Given the description of an element on the screen output the (x, y) to click on. 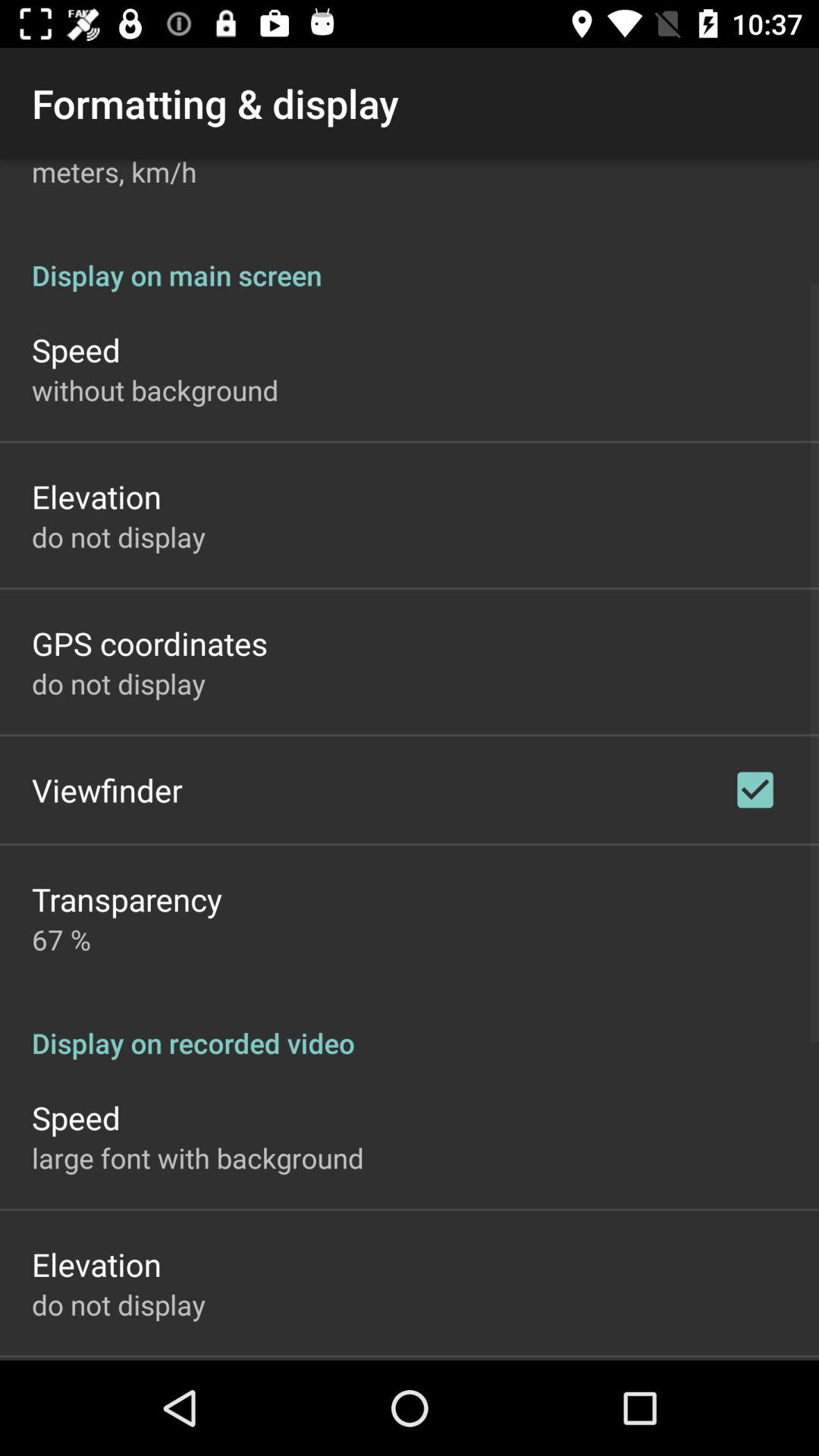
open the item above the elevation icon (154, 389)
